Given the description of an element on the screen output the (x, y) to click on. 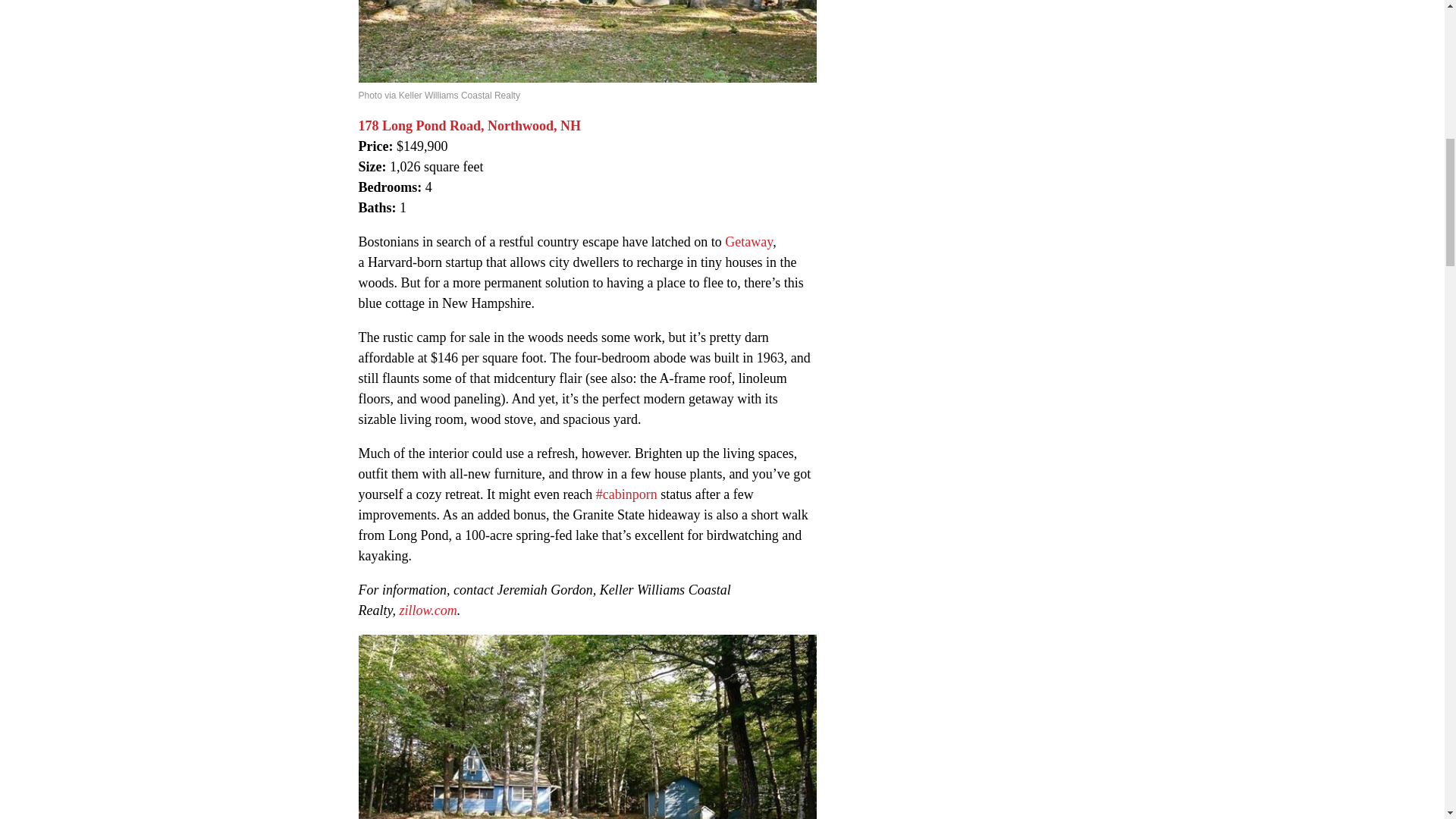
178 Long Pond Rd (422, 125)
